Given the description of an element on the screen output the (x, y) to click on. 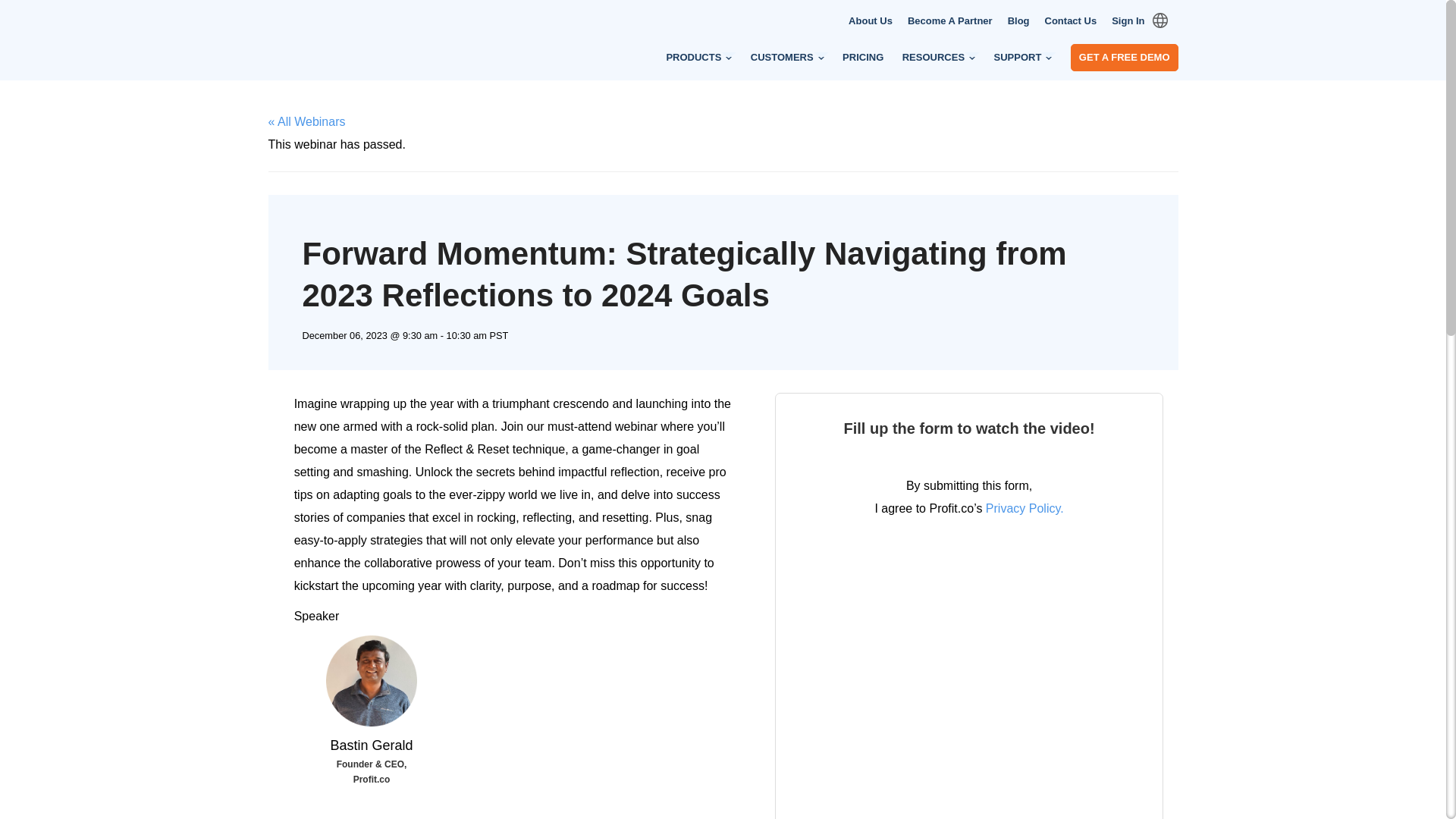
CUSTOMERS (787, 58)
PRICING (863, 58)
Profit.co (343, 61)
SUPPORT (1023, 58)
About Us (870, 20)
Contact Us (1070, 20)
Blog (1018, 20)
GET A FREE DEMO (1123, 57)
Become A Partner (949, 20)
Sign In (1127, 20)
RESOURCES (938, 58)
PRODUCTS (698, 58)
